Given the description of an element on the screen output the (x, y) to click on. 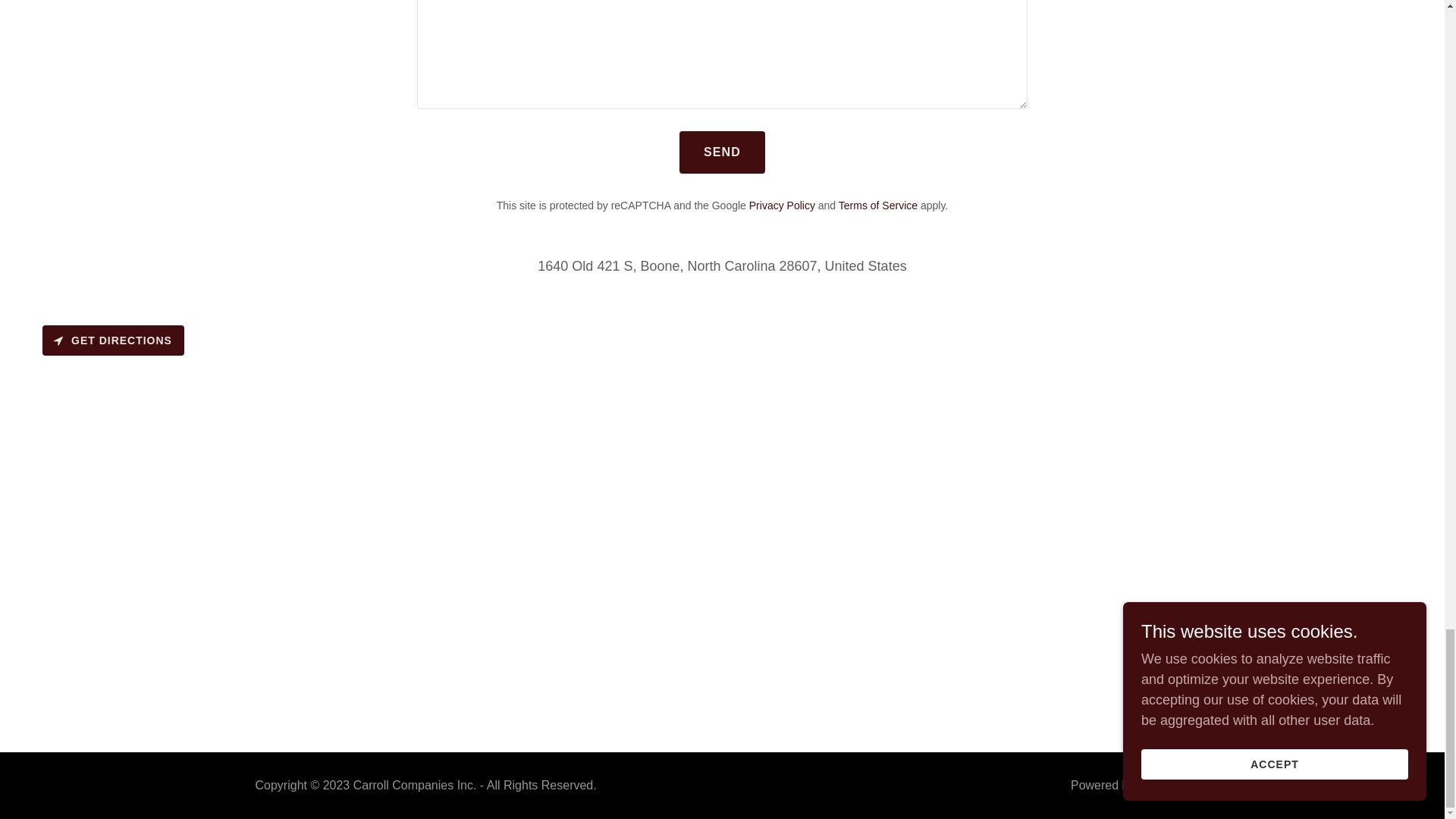
Privacy Policy (782, 205)
GoDaddy (1163, 784)
SEND (722, 152)
GET DIRECTIONS (113, 340)
Terms of Service (877, 205)
